Given the description of an element on the screen output the (x, y) to click on. 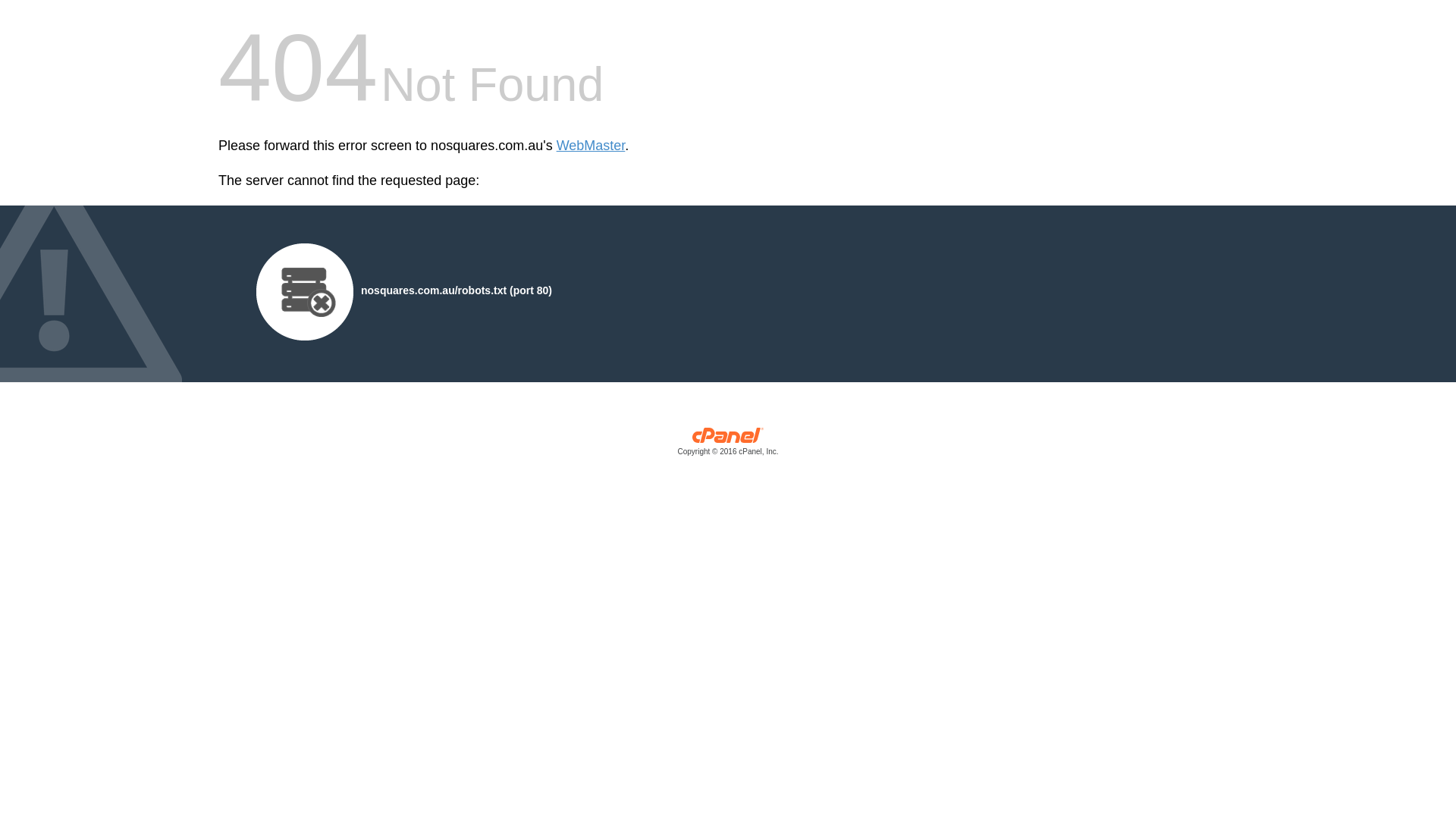
WebMaster Element type: text (590, 145)
